Given the description of an element on the screen output the (x, y) to click on. 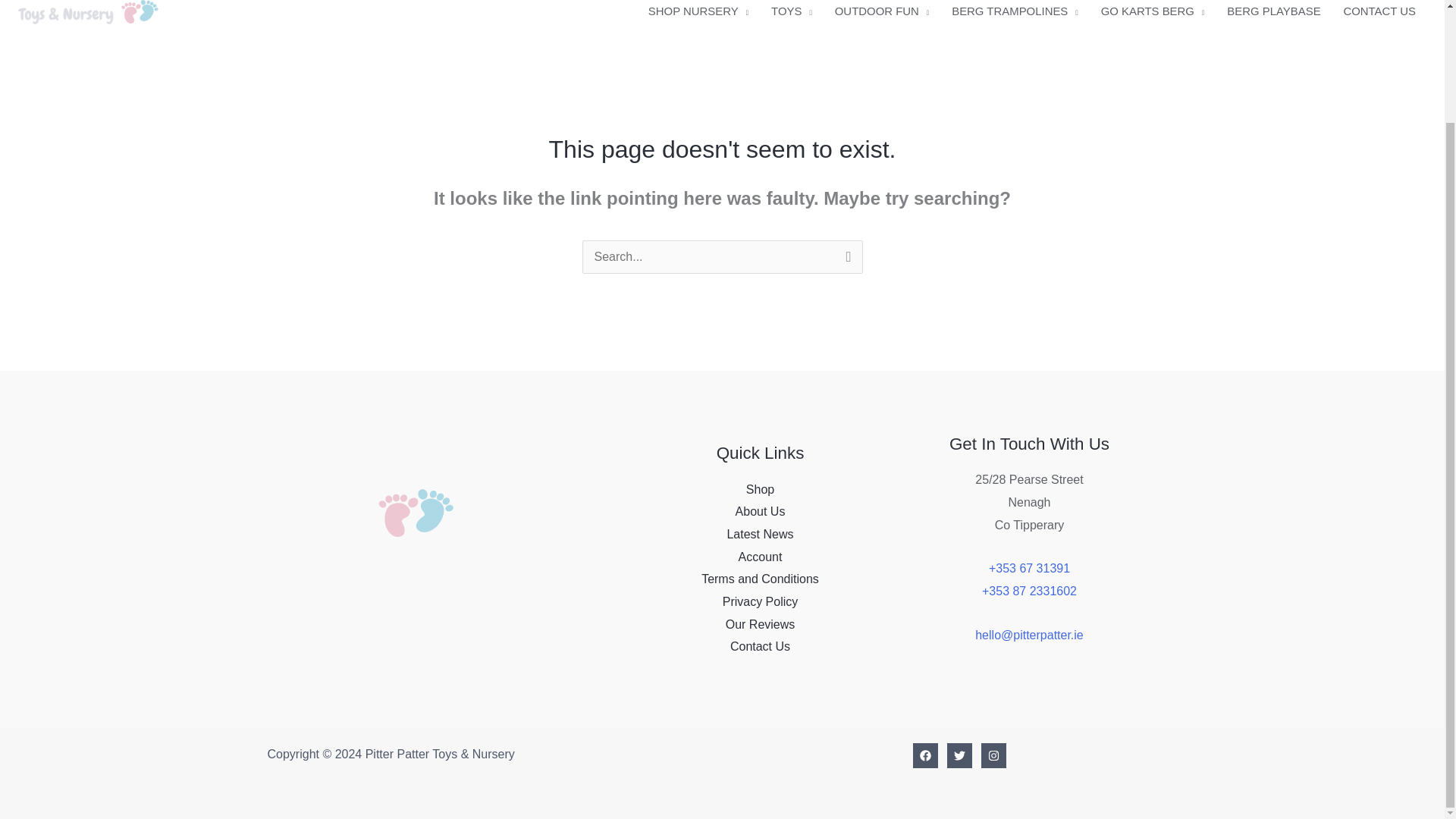
Search (844, 259)
Wooden Toys (792, 11)
SHOP NURSERY (698, 11)
Search (844, 259)
Outdoor Fun (882, 11)
